Given the description of an element on the screen output the (x, y) to click on. 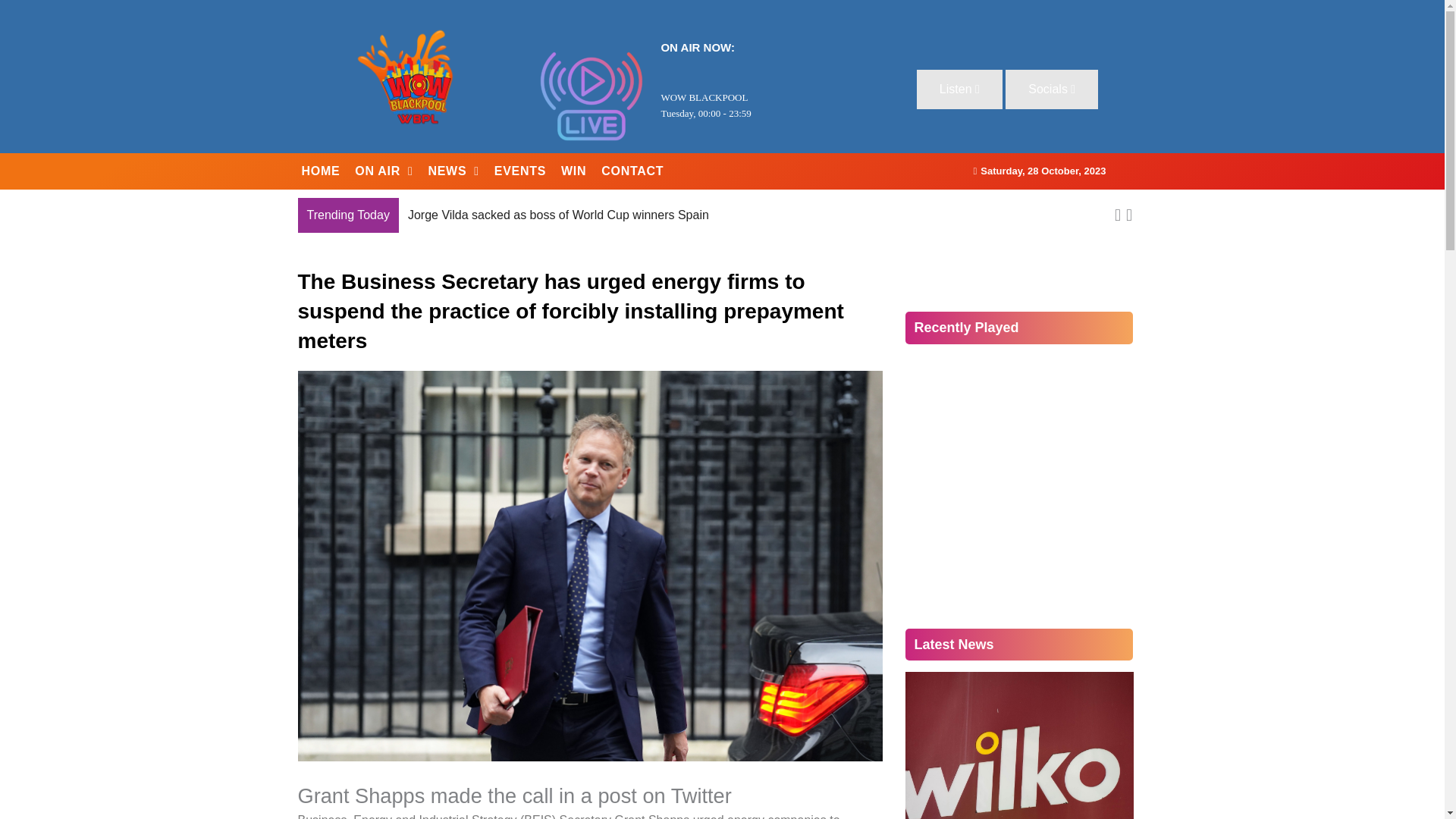
NEWS (453, 171)
Listen (960, 88)
WIN (573, 171)
ON AIR (383, 171)
Socials (1051, 88)
CONTACT (632, 171)
HOME (320, 171)
EVENTS (519, 171)
